Given the description of an element on the screen output the (x, y) to click on. 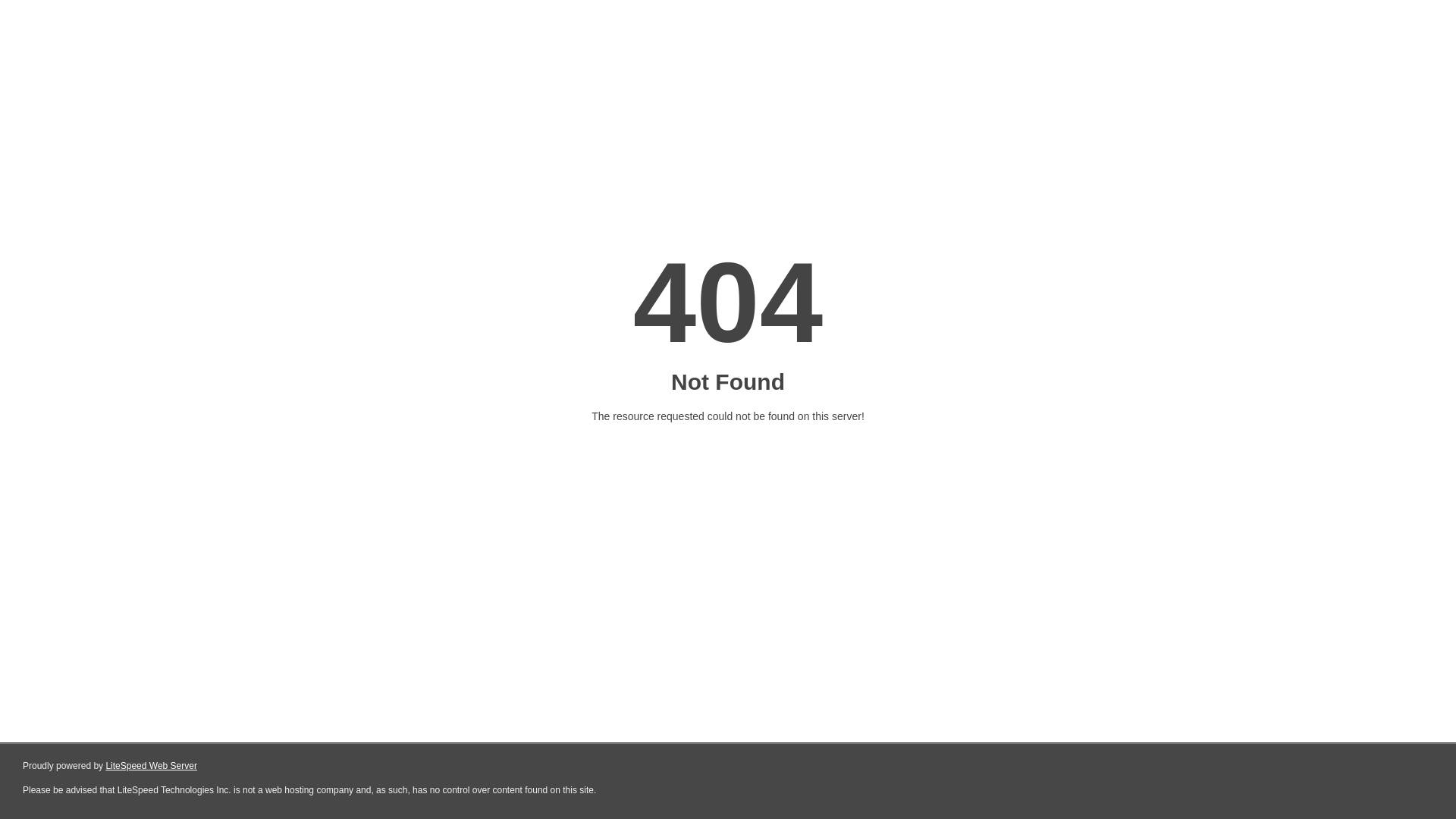
LiteSpeed Web Server Element type: text (151, 765)
